Given the description of an element on the screen output the (x, y) to click on. 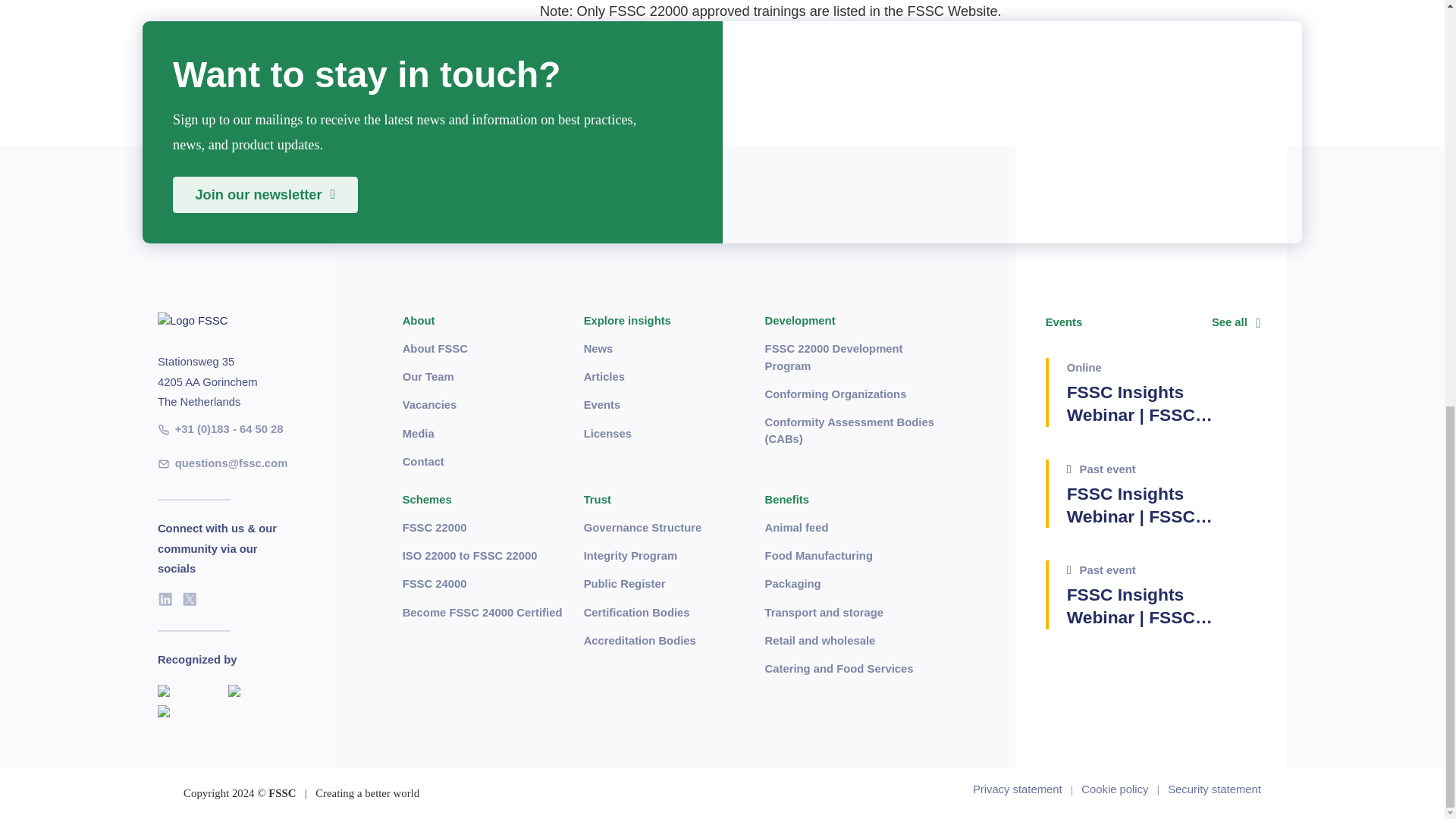
linkedin (165, 598)
twitter-x-alt (190, 598)
